Given the description of an element on the screen output the (x, y) to click on. 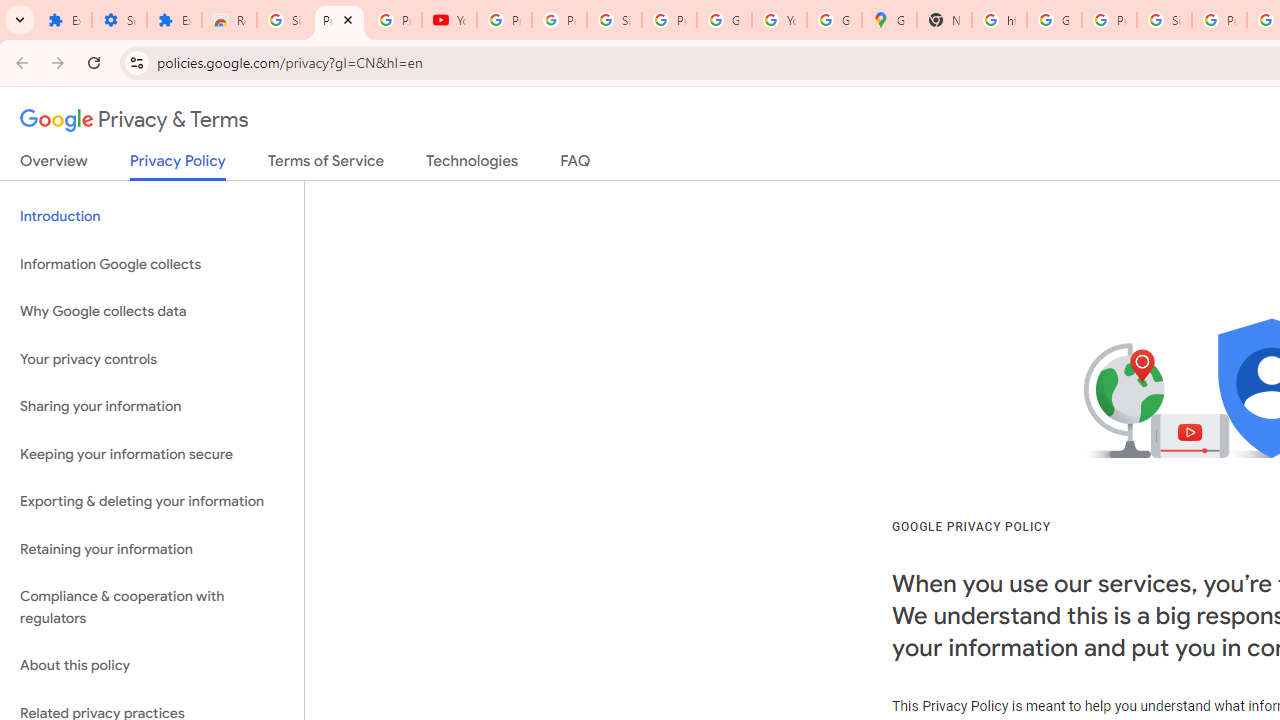
Sign in - Google Accounts (614, 20)
Information Google collects (152, 263)
Introduction (152, 216)
About this policy (152, 666)
Sign in - Google Accounts (284, 20)
Extensions (174, 20)
Reviews: Helix Fruit Jump Arcade Game (229, 20)
Keeping your information secure (152, 453)
